Given the description of an element on the screen output the (x, y) to click on. 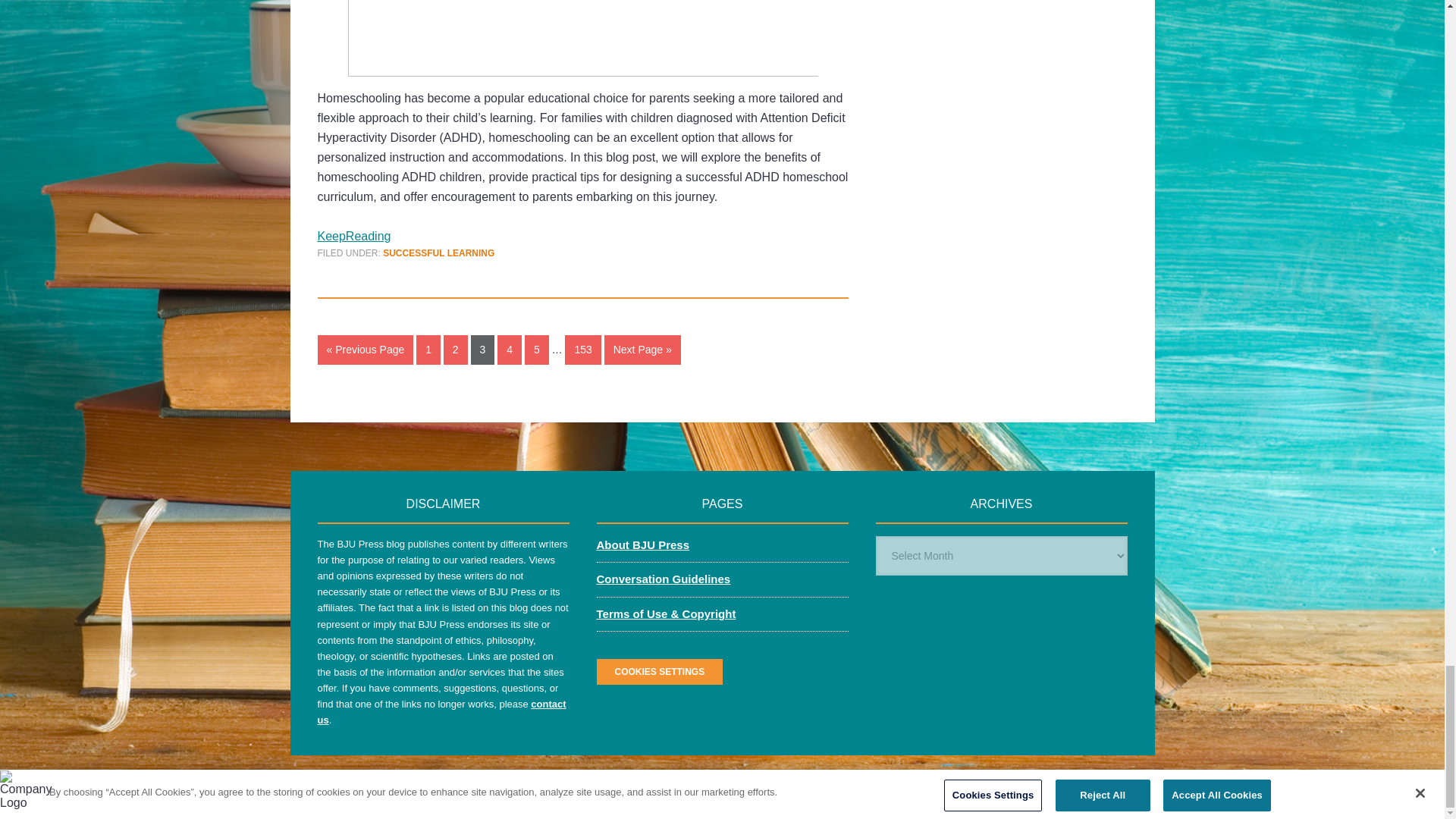
KeepReading (353, 236)
SUCCESSFUL LEARNING (438, 253)
email BJU Press (441, 711)
